Given the description of an element on the screen output the (x, y) to click on. 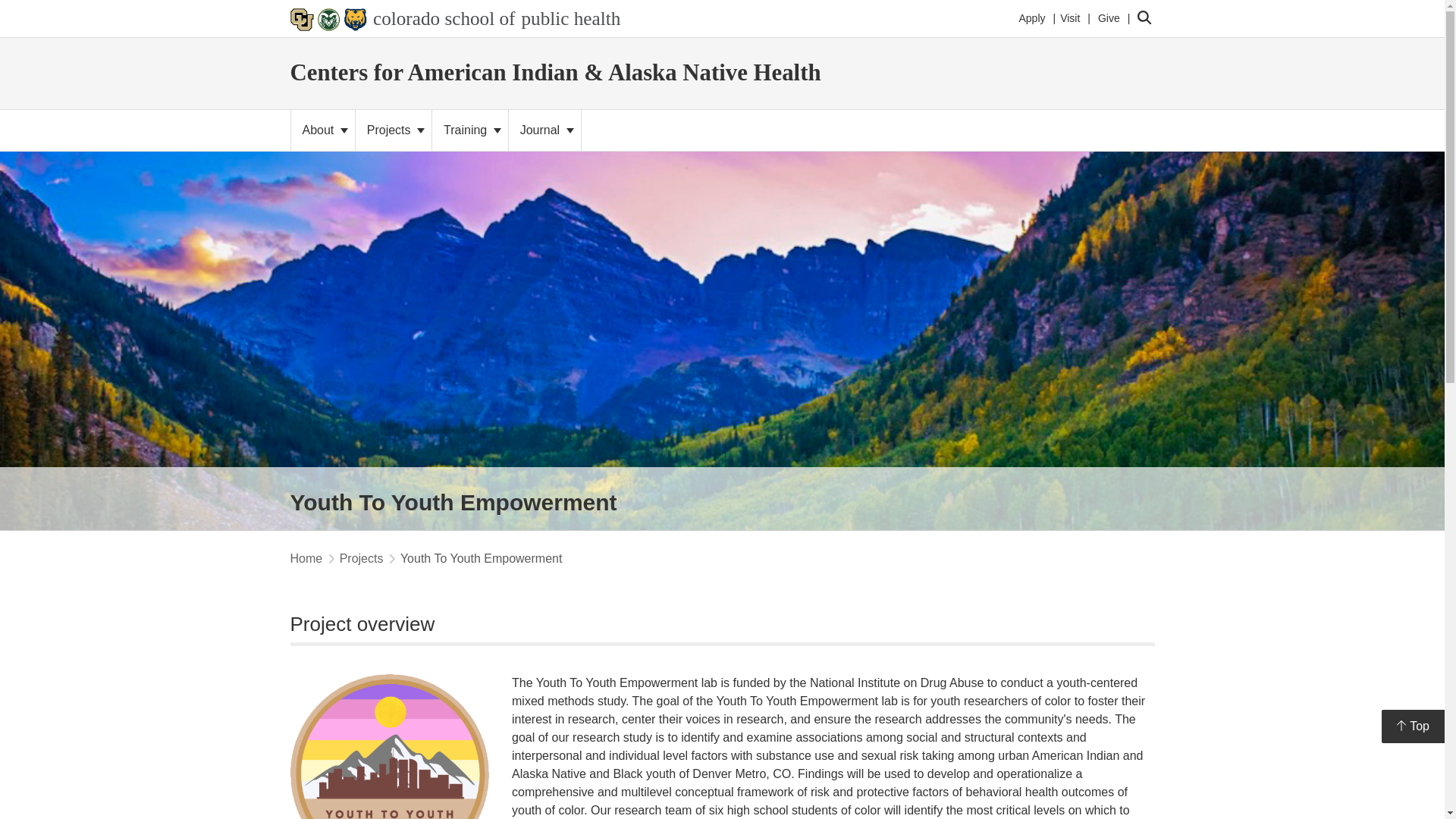
Give (1108, 18)
Apply (454, 18)
Training (1031, 18)
About (470, 129)
Journal (323, 129)
Y2YE-logo (544, 129)
Visit (389, 746)
Projects (1069, 18)
